Given the description of an element on the screen output the (x, y) to click on. 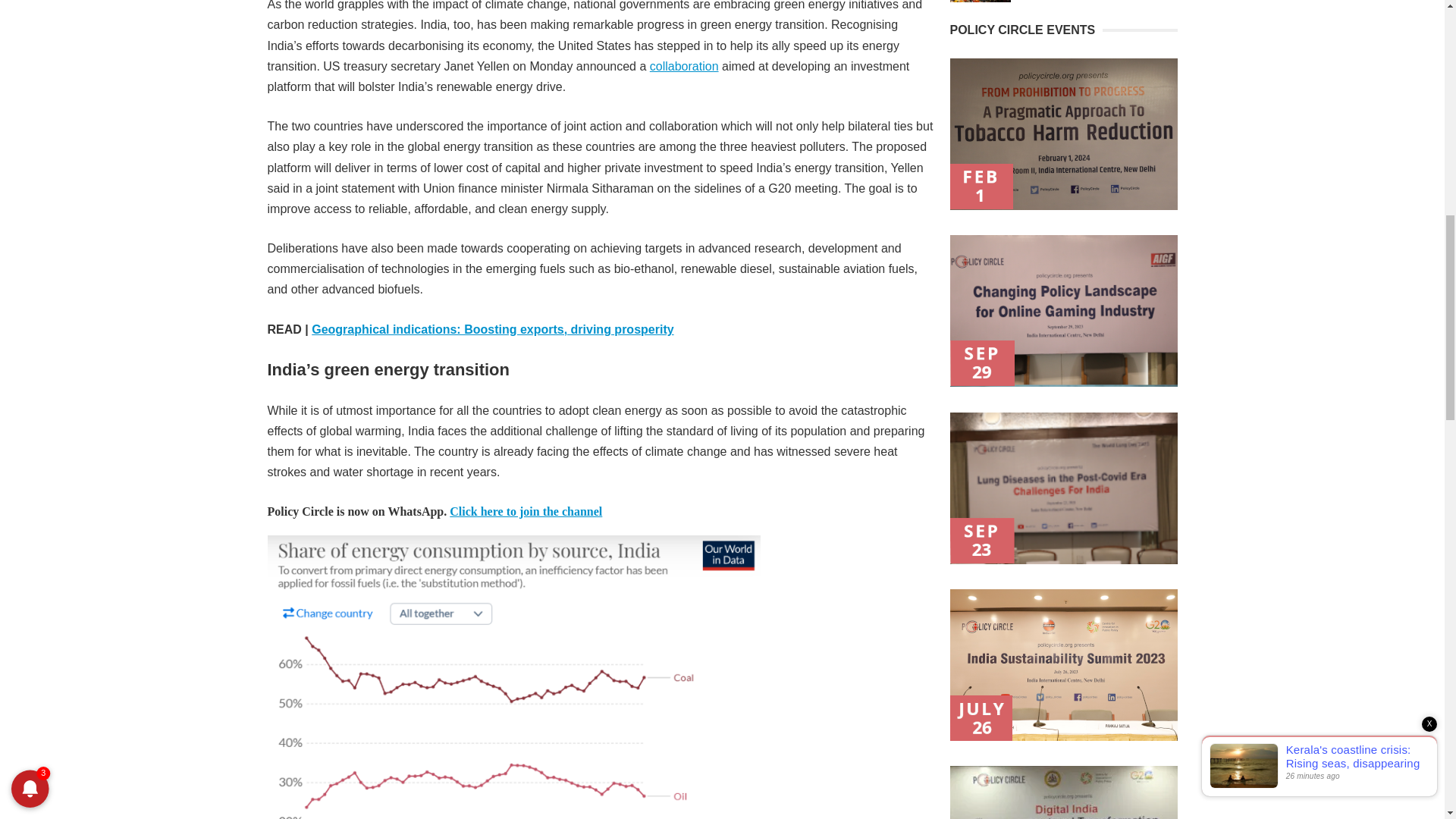
collaboration (684, 65)
